Given the description of an element on the screen output the (x, y) to click on. 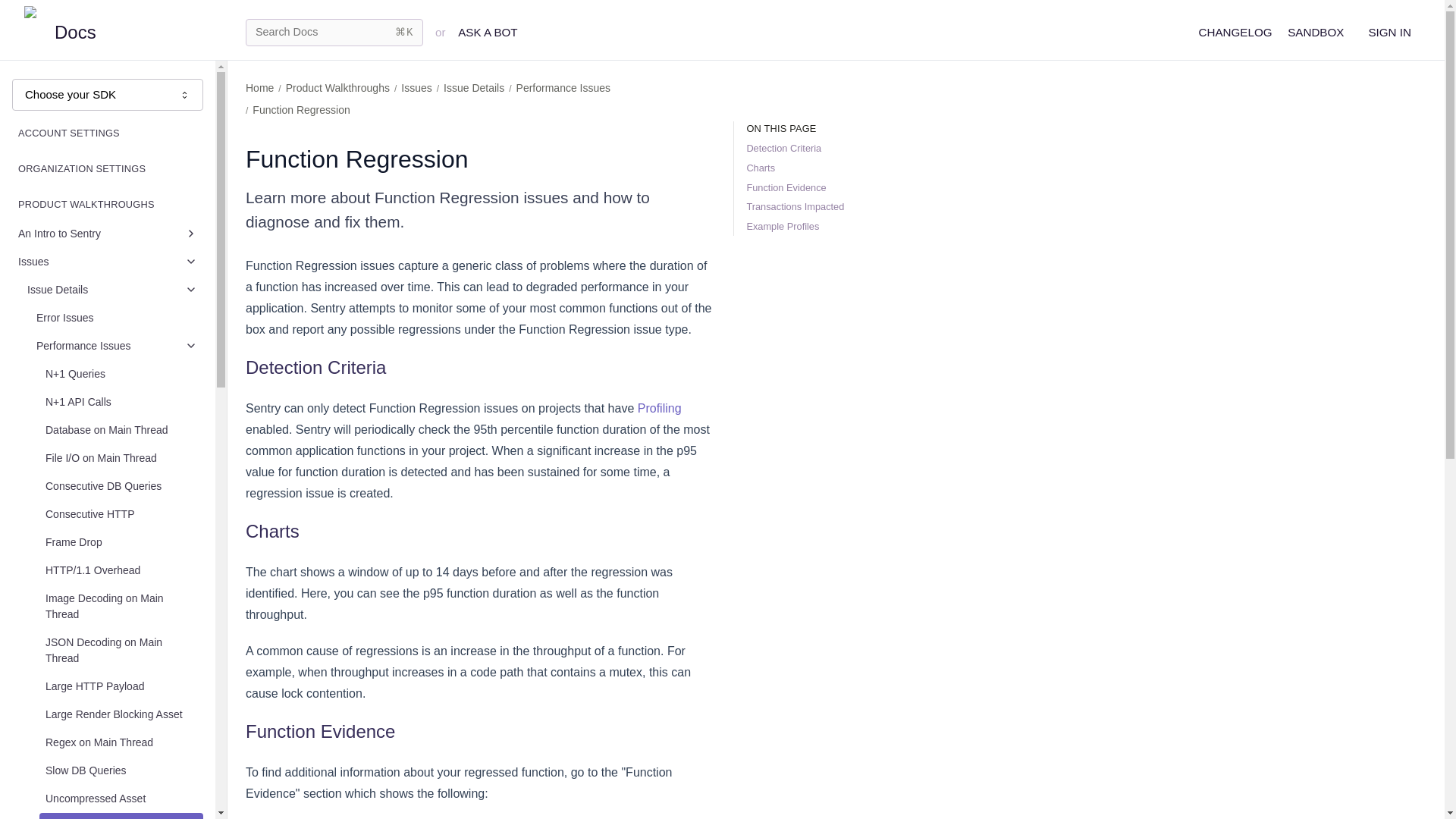
Slow DB Queries (121, 770)
An Intro to Sentry (107, 234)
ACCOUNT SETTINGS (107, 132)
Sentry error monitoring (125, 31)
SANDBOX (1315, 32)
Docs (125, 31)
Frame Drop (121, 542)
Performance Issues (116, 346)
CHANGELOG (1235, 32)
Choose your SDK (107, 94)
Consecutive DB Queries (121, 486)
Database on Main Thread (121, 430)
ASK A BOT (487, 32)
Issue Details (112, 289)
Large HTTP Payload (121, 686)
